Given the description of an element on the screen output the (x, y) to click on. 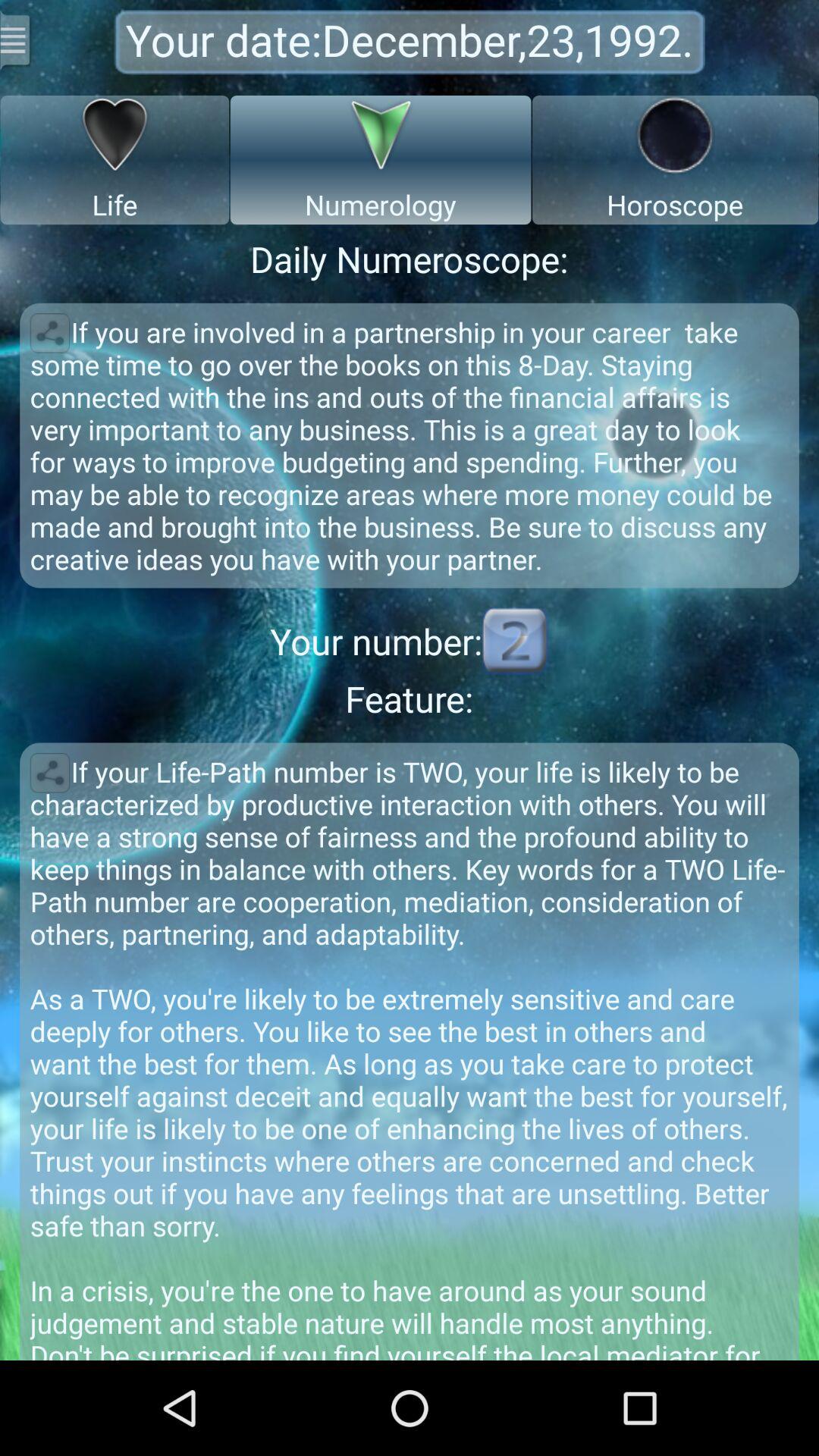
menu (17, 39)
